Given the description of an element on the screen output the (x, y) to click on. 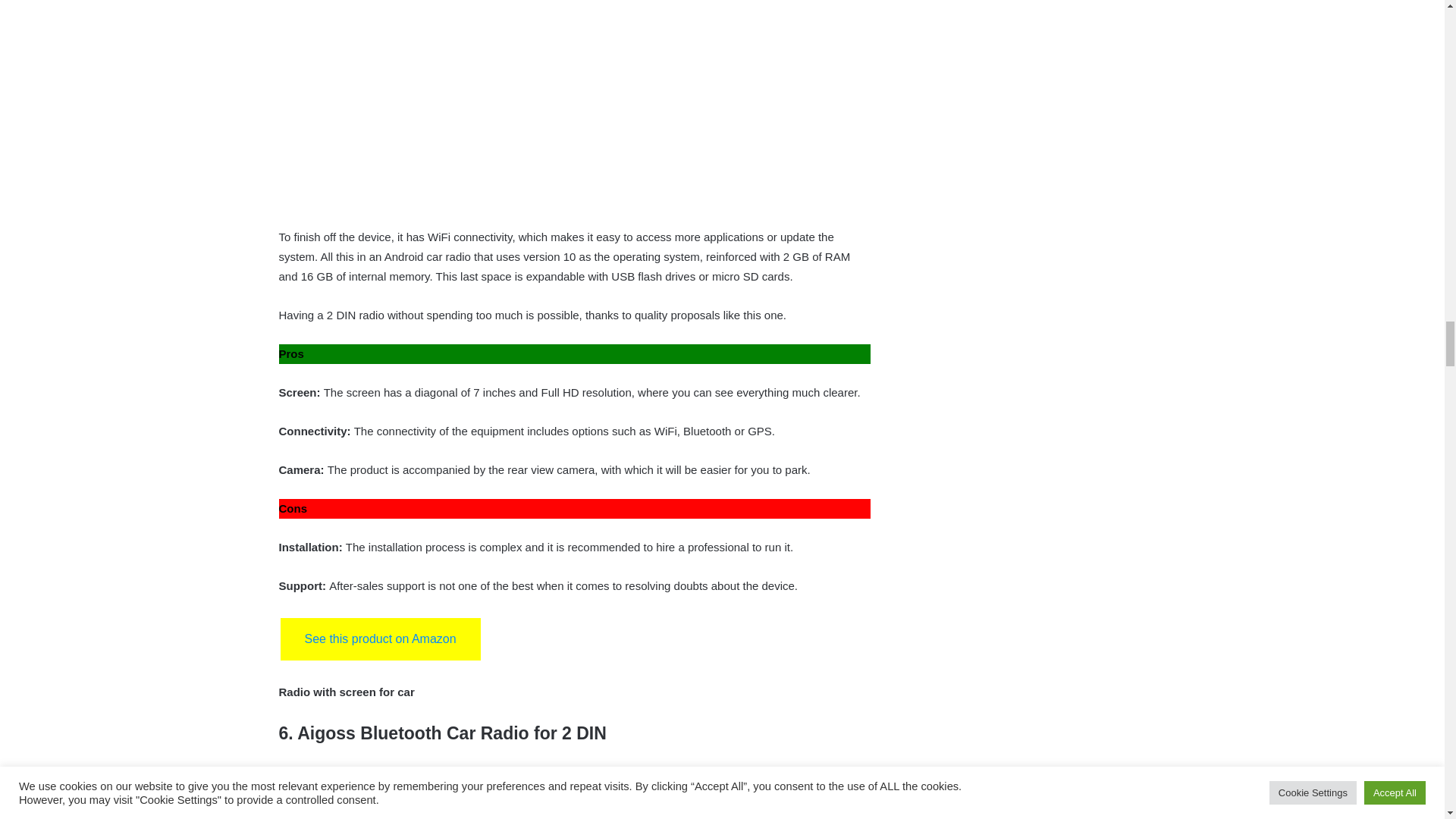
See this product on Amazon (380, 639)
